Given the description of an element on the screen output the (x, y) to click on. 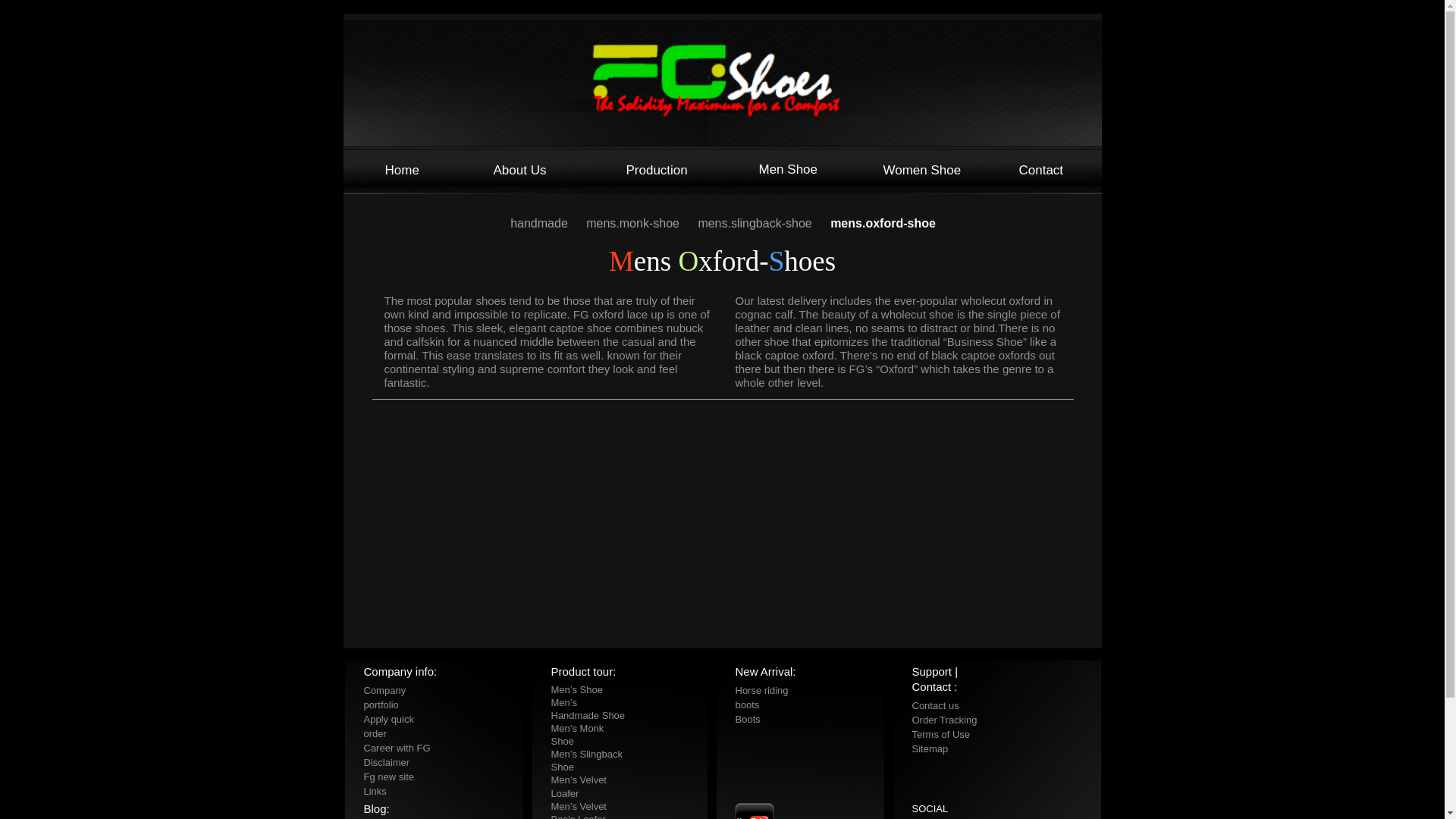
mens.monk-shoe (634, 223)
Production (656, 169)
Contact us (934, 704)
About Us (519, 169)
mens.slingback-shoe (756, 223)
mens.oxford-shoe (882, 223)
Sitemap (929, 748)
Women Shoe (921, 169)
Home (402, 169)
Terms of Use (940, 733)
Boots (747, 717)
Men Shoe (787, 169)
Contact (1041, 169)
Order Tracking (943, 719)
Horse riding boots (762, 696)
